Given the description of an element on the screen output the (x, y) to click on. 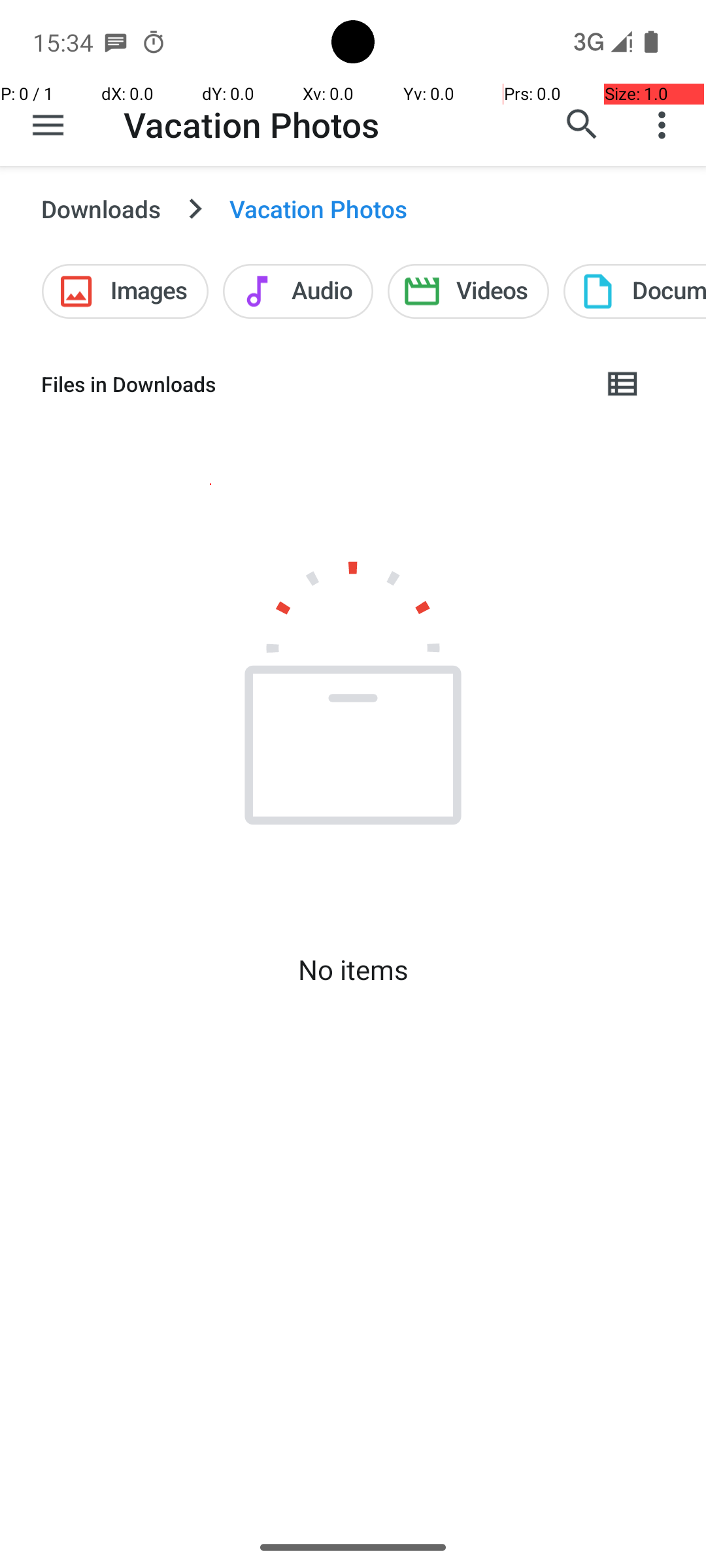
Vacation Photos Element type: android.widget.TextView (251, 124)
